Given the description of an element on the screen output the (x, y) to click on. 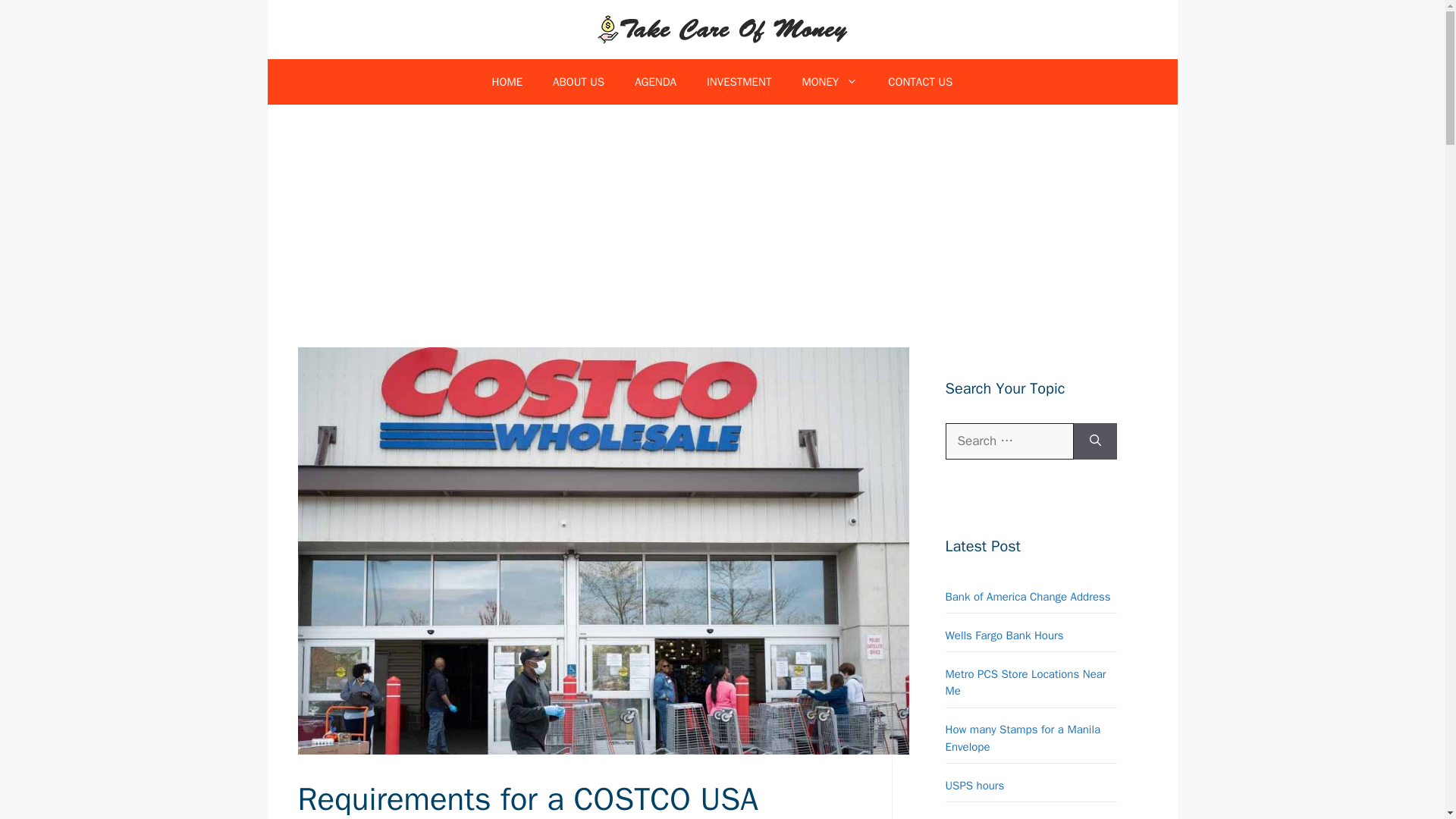
MONEY (829, 81)
AGENDA (655, 81)
ABOUT US (578, 81)
Search for: (1008, 441)
INVESTMENT (738, 81)
CONTACT US (920, 81)
HOME (507, 81)
